Given the description of an element on the screen output the (x, y) to click on. 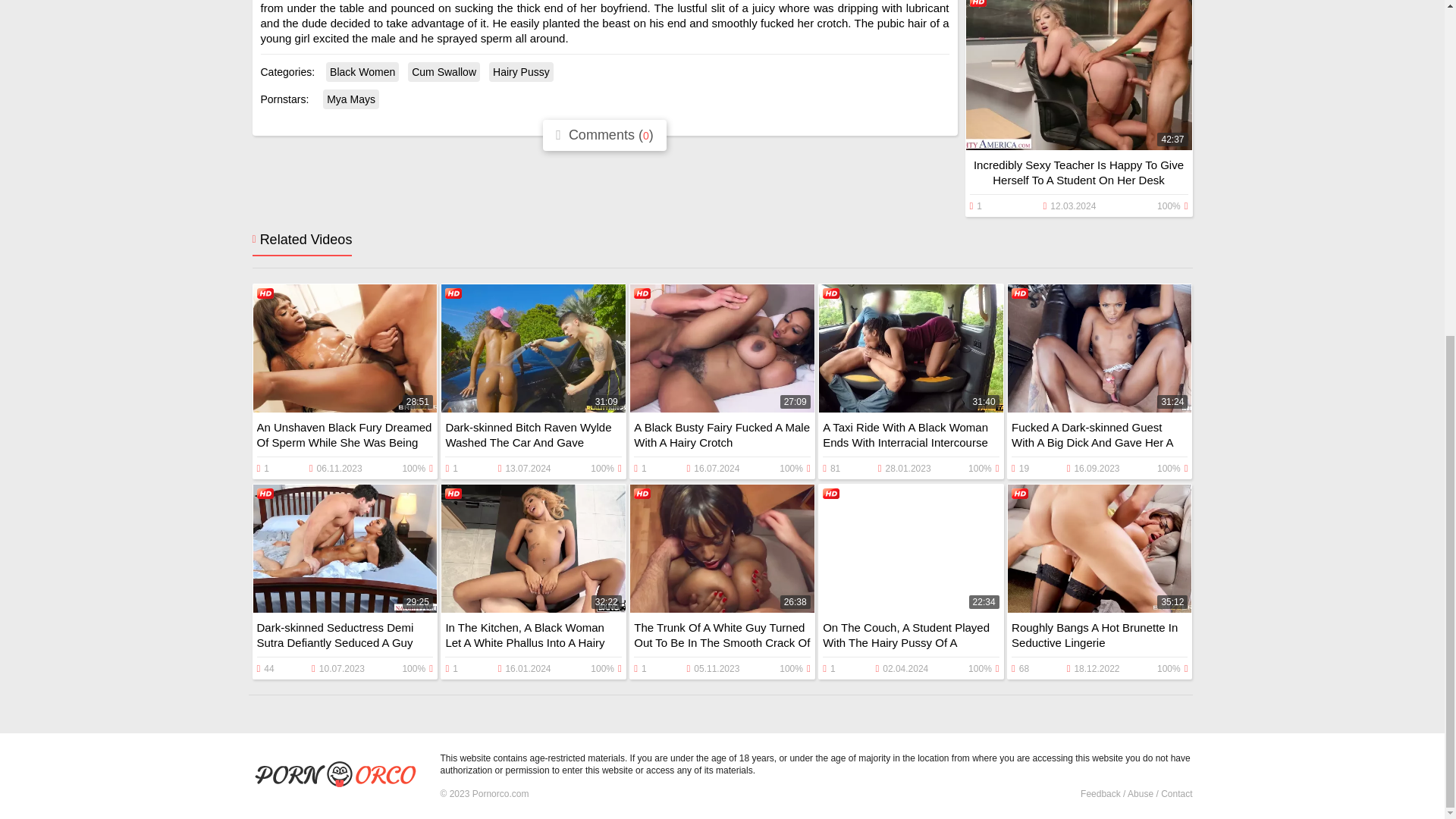
Cum Swallow (443, 71)
Hairy Pussy (521, 71)
Black Women (362, 71)
Black Women (362, 71)
Mya Mays (350, 98)
Hairy Pussy (521, 71)
Mya Mays (350, 98)
Cum Swallow (443, 71)
Pornorco (339, 775)
